Given the description of an element on the screen output the (x, y) to click on. 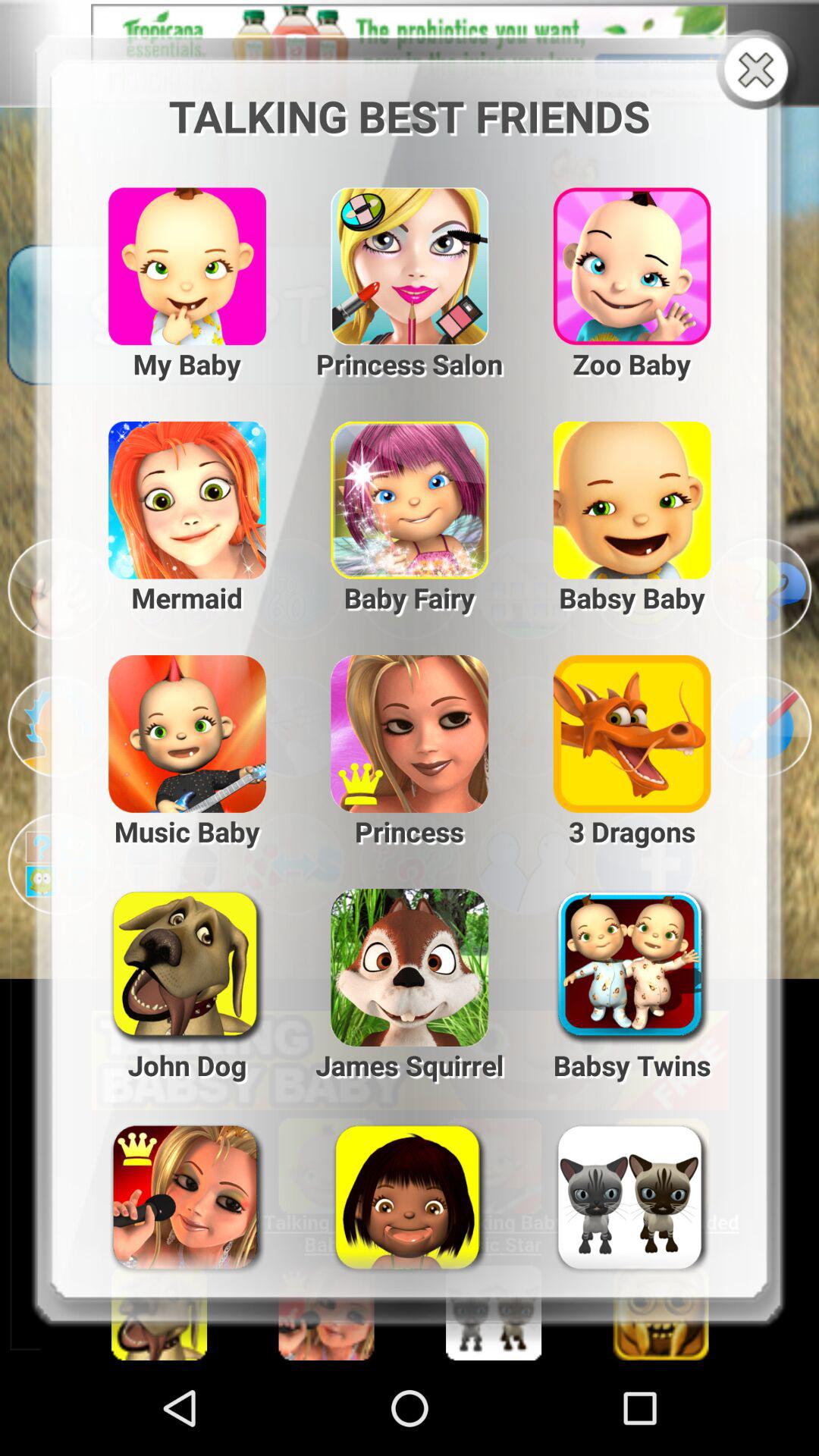
one big x (759, 71)
